Given the description of an element on the screen output the (x, y) to click on. 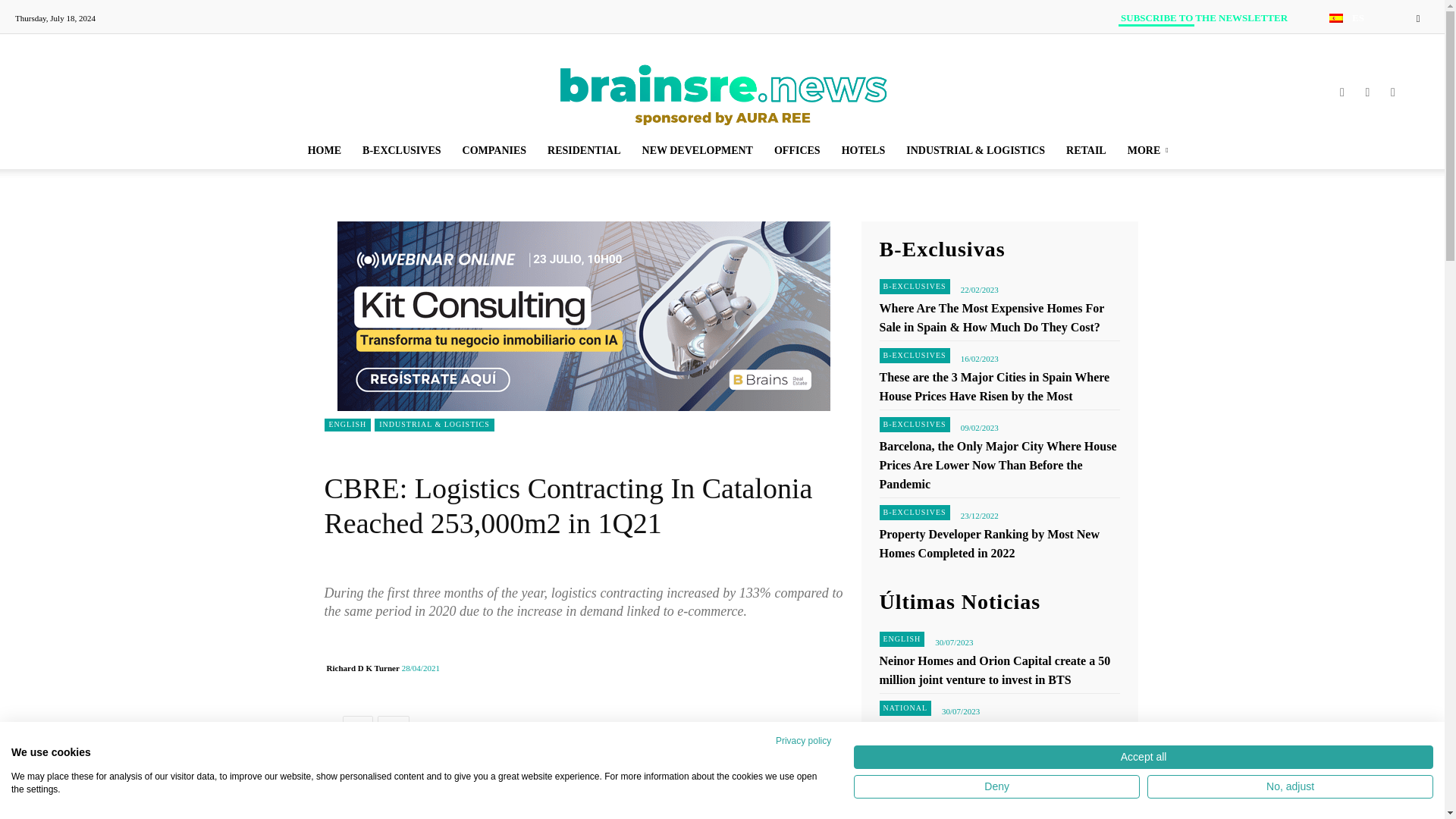
More (393, 730)
ES (1344, 17)
Newsletter subscription (1204, 17)
Twitter (357, 730)
Search (1386, 71)
SUBSCRIBE TO THE NEWSLETTER (1204, 17)
View all posts in English (372, 101)
